Given the description of an element on the screen output the (x, y) to click on. 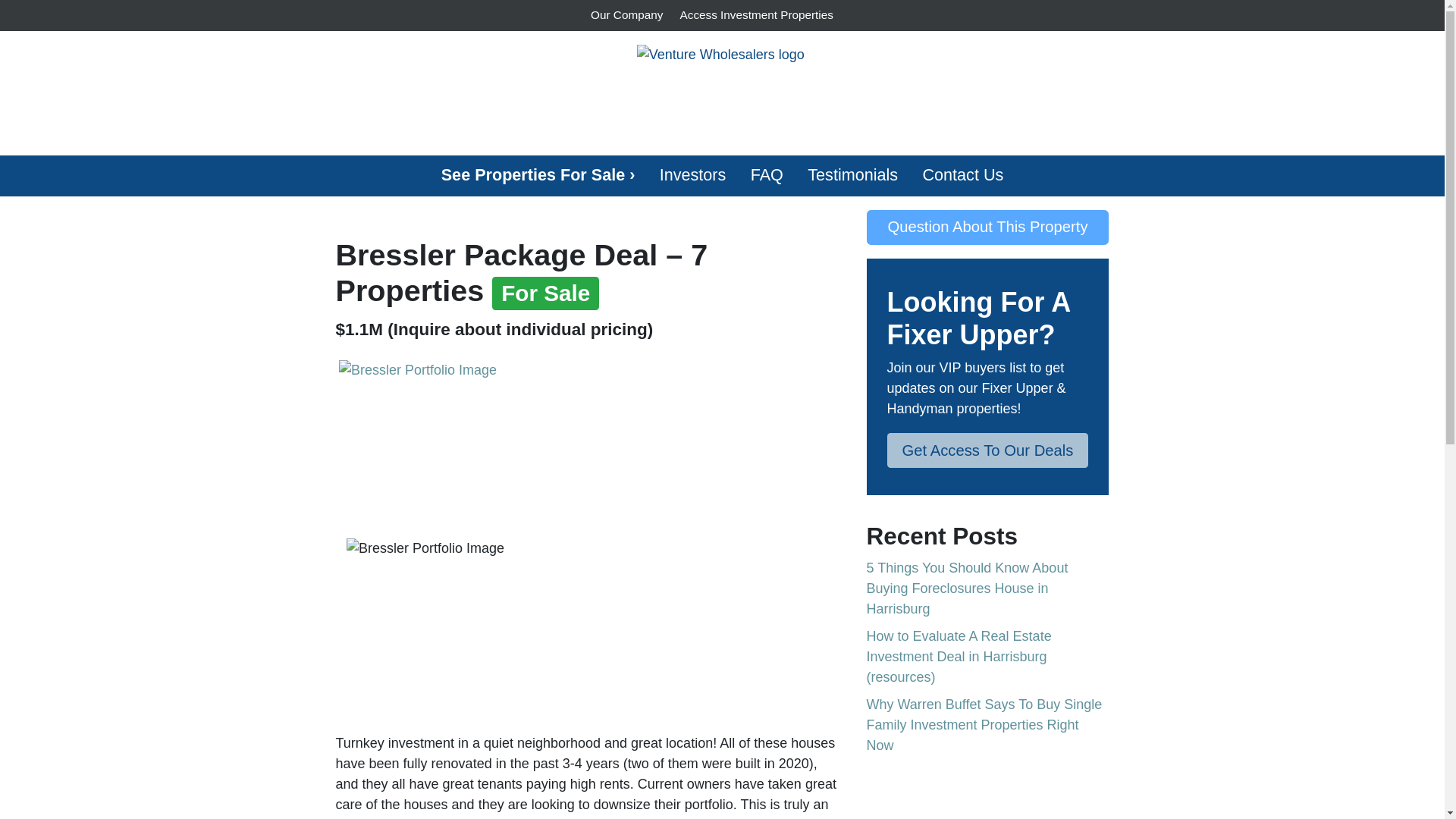
Our Company (626, 15)
Get Access To Our Deals (987, 450)
FAQ (767, 175)
Investors (692, 175)
Question About This Property (987, 226)
Testimonials (852, 175)
Investors (692, 175)
Contact Us (962, 175)
Contact Us (962, 175)
Access Investment Properties (756, 15)
FAQ (767, 175)
Testimonials (852, 175)
